Given the description of an element on the screen output the (x, y) to click on. 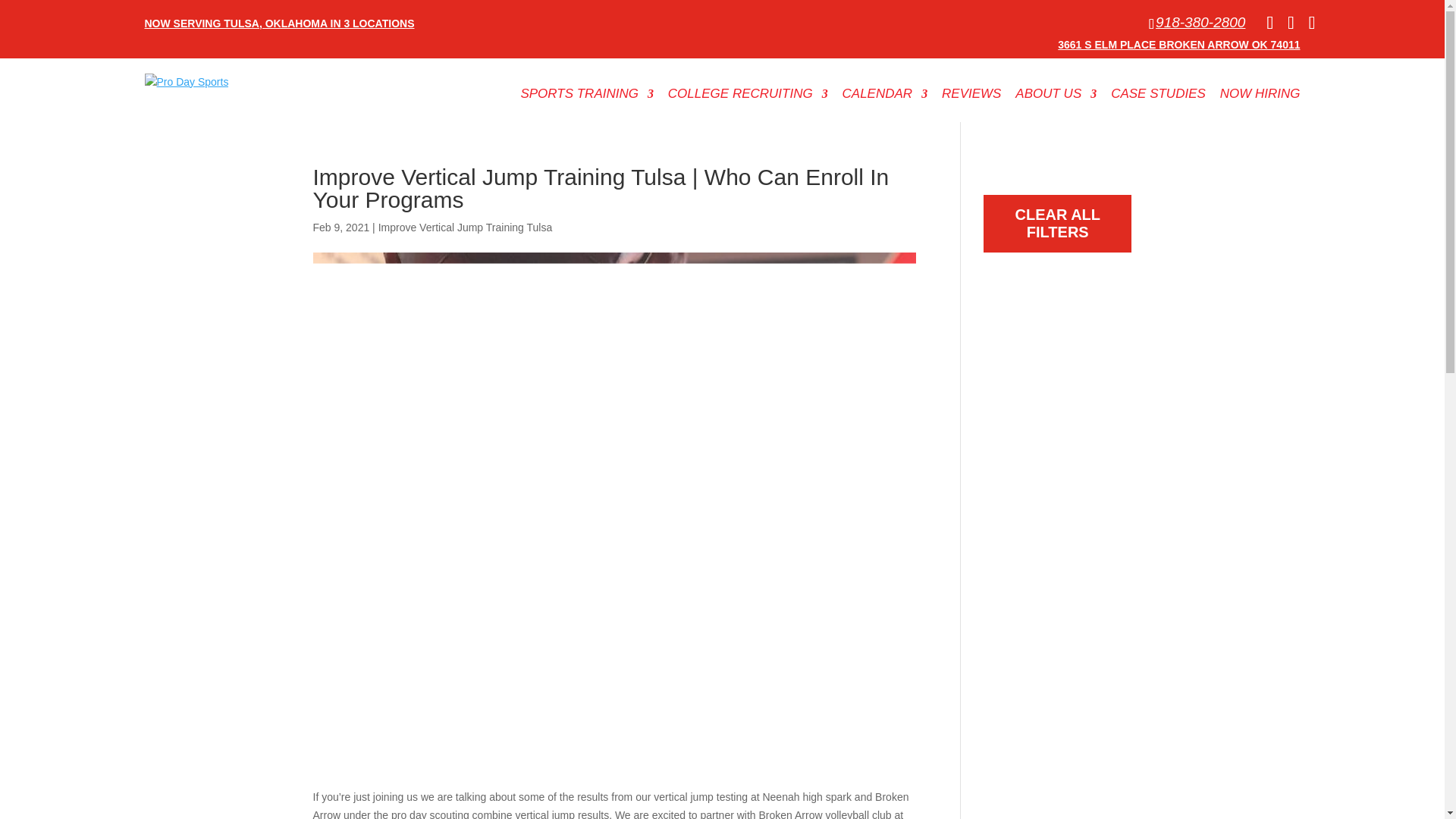
CASE STUDIES (1157, 97)
CALENDAR (885, 97)
3661 S ELM PLACE BROKEN ARROW OK 74011 (1179, 44)
Improve Vertical Jump Training Tulsa (465, 227)
SPORTS TRAINING (586, 97)
REVIEWS (971, 97)
COLLEGE RECRUITING (748, 97)
NOW HIRING (1260, 97)
NOW SERVING TULSA, OKLAHOMA IN 3 LOCATIONS (278, 18)
CLEAR ALL FILTERS (1057, 223)
918-380-2800 (1196, 22)
ABOUT US (1055, 97)
